Given the description of an element on the screen output the (x, y) to click on. 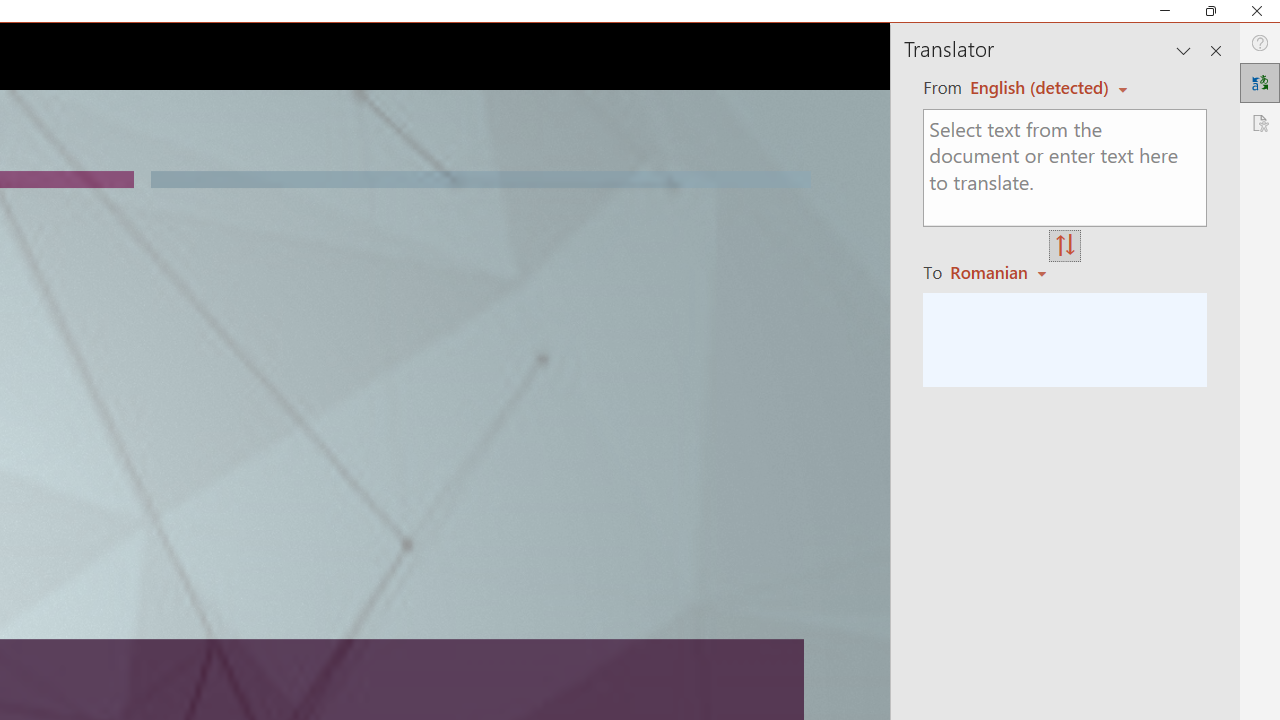
Czech (detected) (1039, 87)
Romanian (1001, 272)
